Given the description of an element on the screen output the (x, y) to click on. 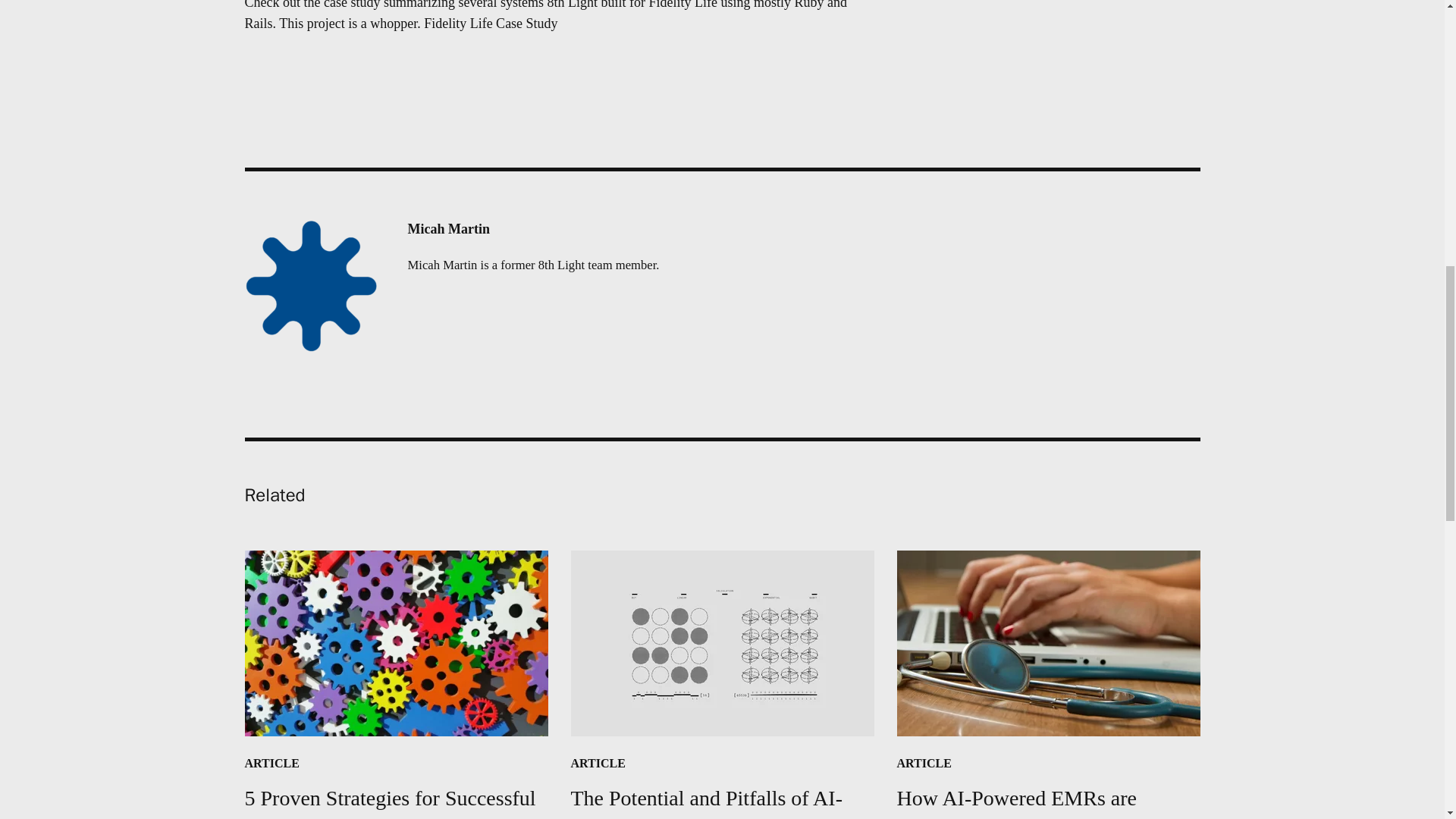
Micah Martin (533, 229)
